Given the description of an element on the screen output the (x, y) to click on. 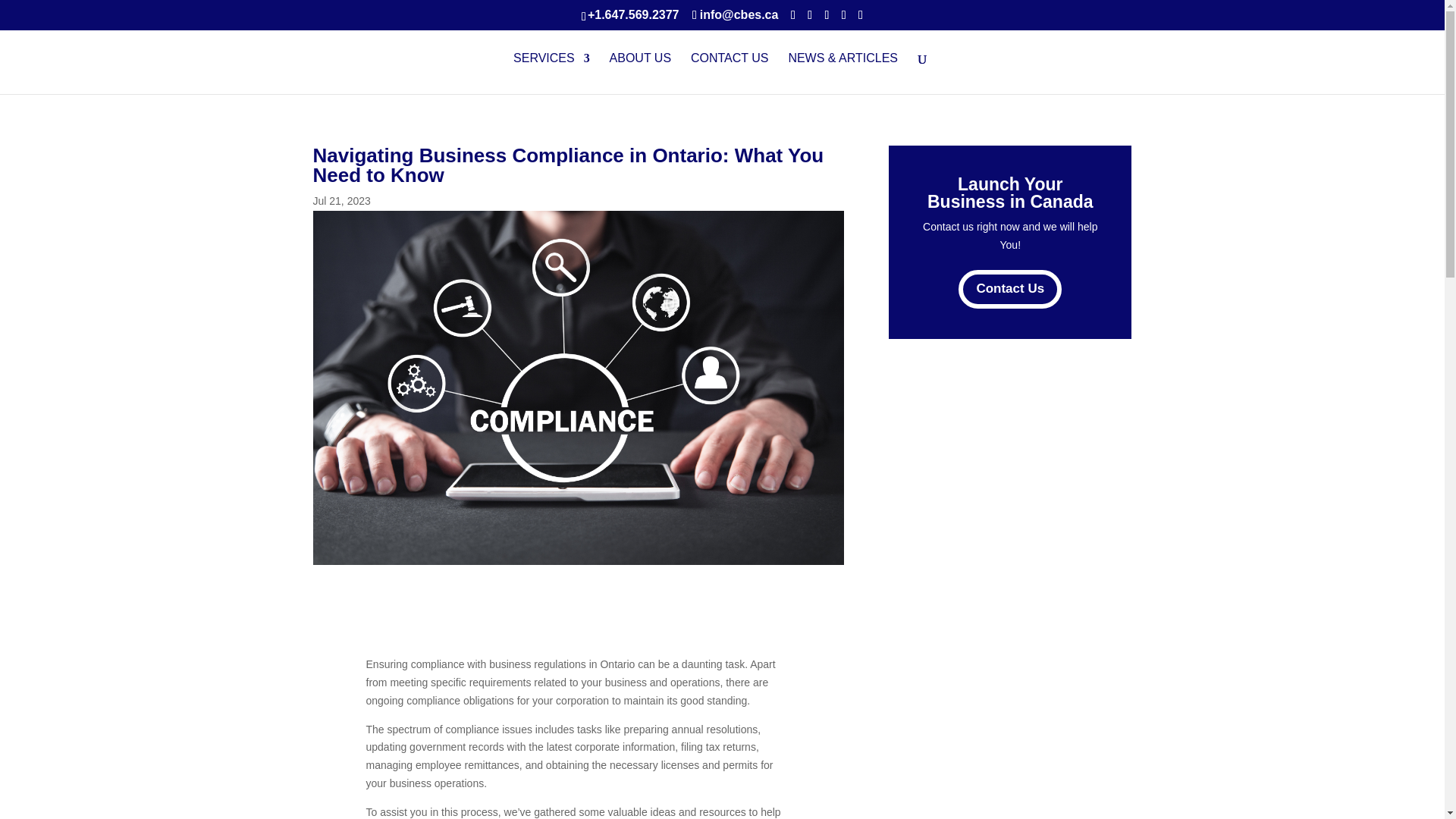
Contact Us (1009, 289)
ABOUT US (640, 73)
CONTACT US (729, 73)
SERVICES (551, 73)
